Given the description of an element on the screen output the (x, y) to click on. 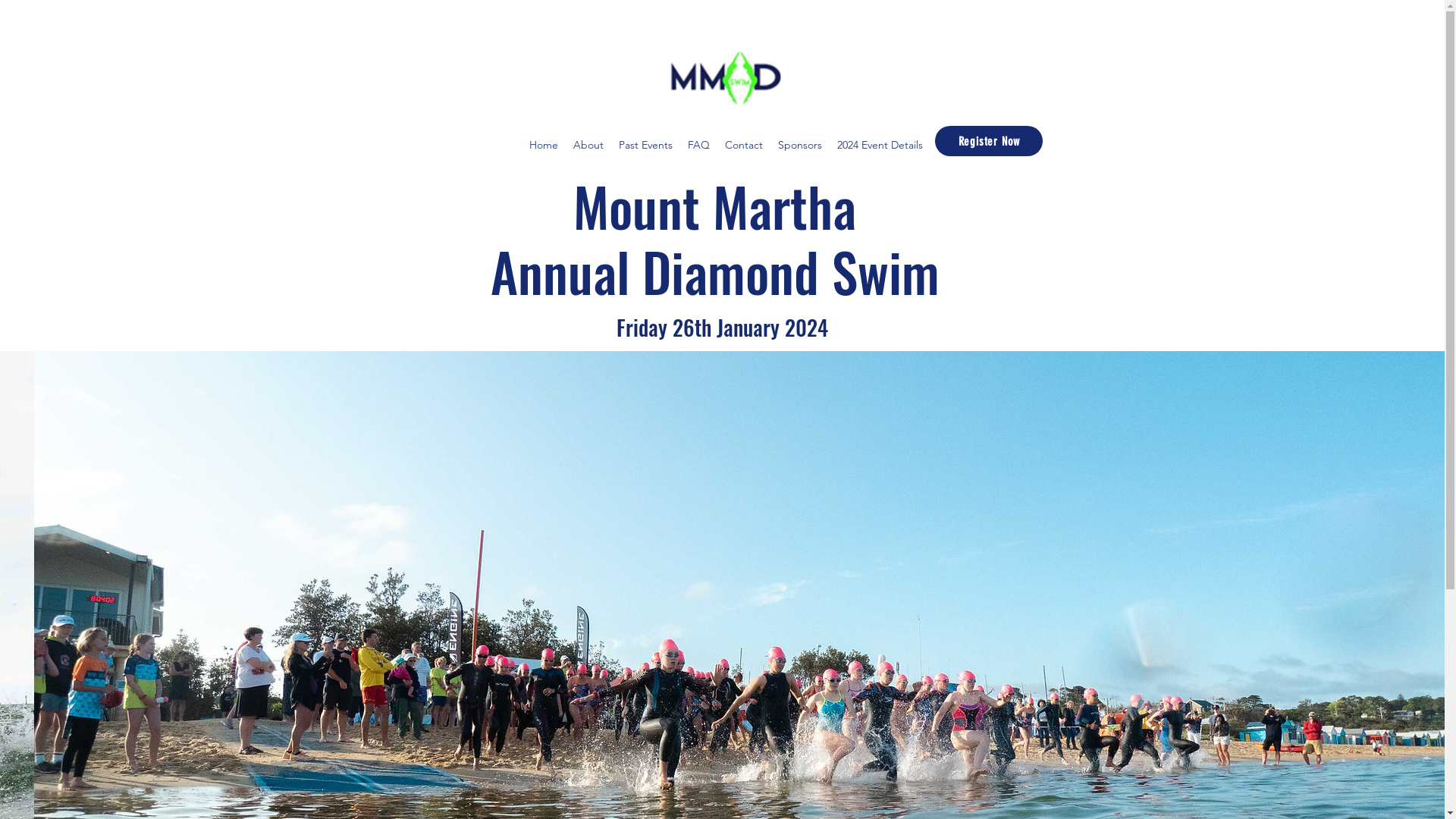
FAQ Element type: text (698, 144)
Contact Element type: text (743, 144)
Sponsors Element type: text (799, 144)
Past Events Element type: text (645, 144)
Home Element type: text (543, 144)
Register Now Element type: text (988, 140)
2024 Event Details Element type: text (879, 144)
About Element type: text (588, 144)
